Given the description of an element on the screen output the (x, y) to click on. 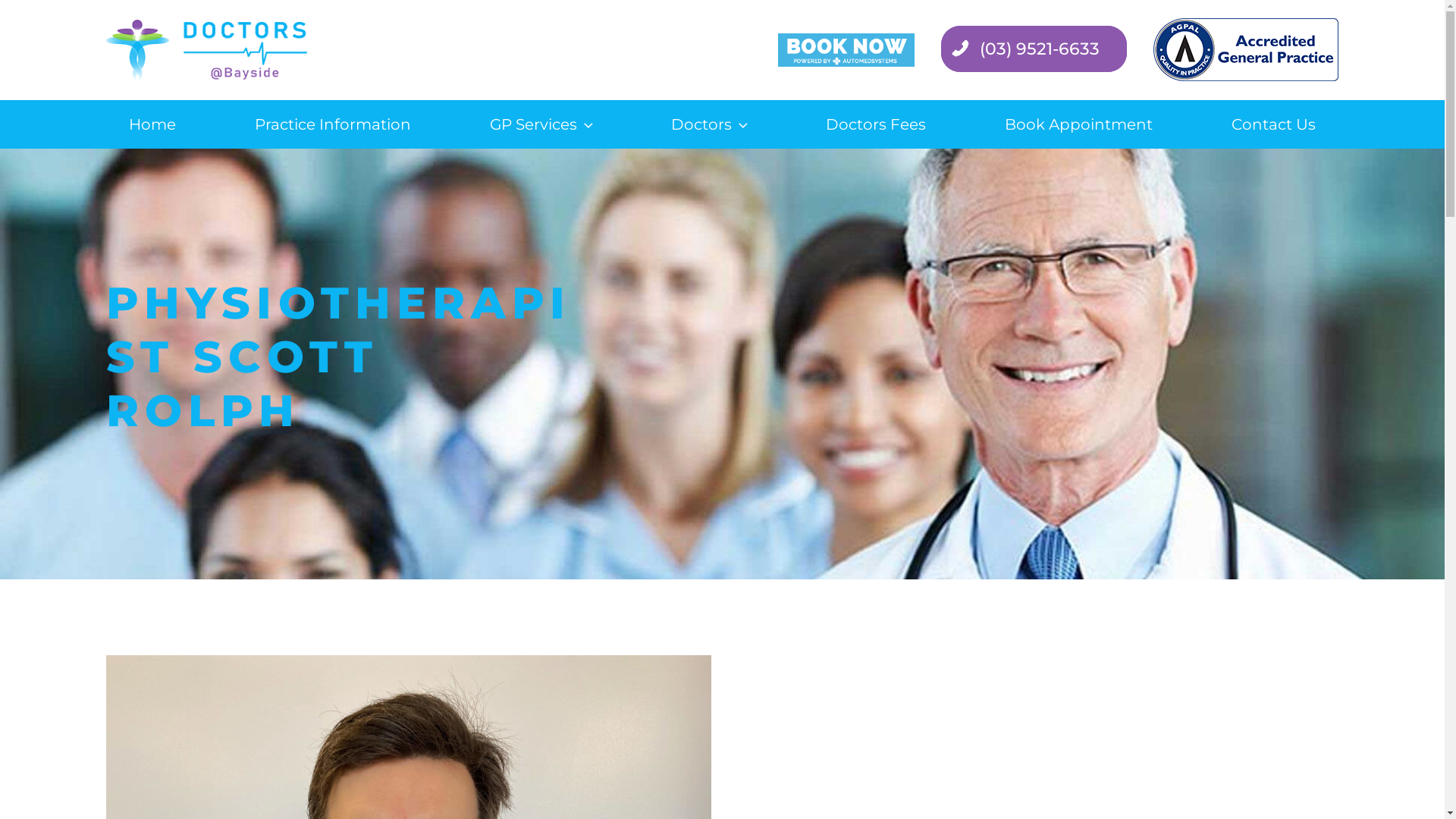
Home Element type: text (152, 124)
GP Services Element type: text (541, 124)
Contact Us Element type: text (1273, 124)
Doctors Fees Element type: text (875, 124)
Practice Information Element type: text (332, 124)
Doctors @ Bayside - Book Appointment Element type: hover (846, 49)
Doctors Element type: text (708, 124)
Book Appointment Element type: text (1078, 124)
(03) 9521-6633 Element type: text (1033, 48)
